Given the description of an element on the screen output the (x, y) to click on. 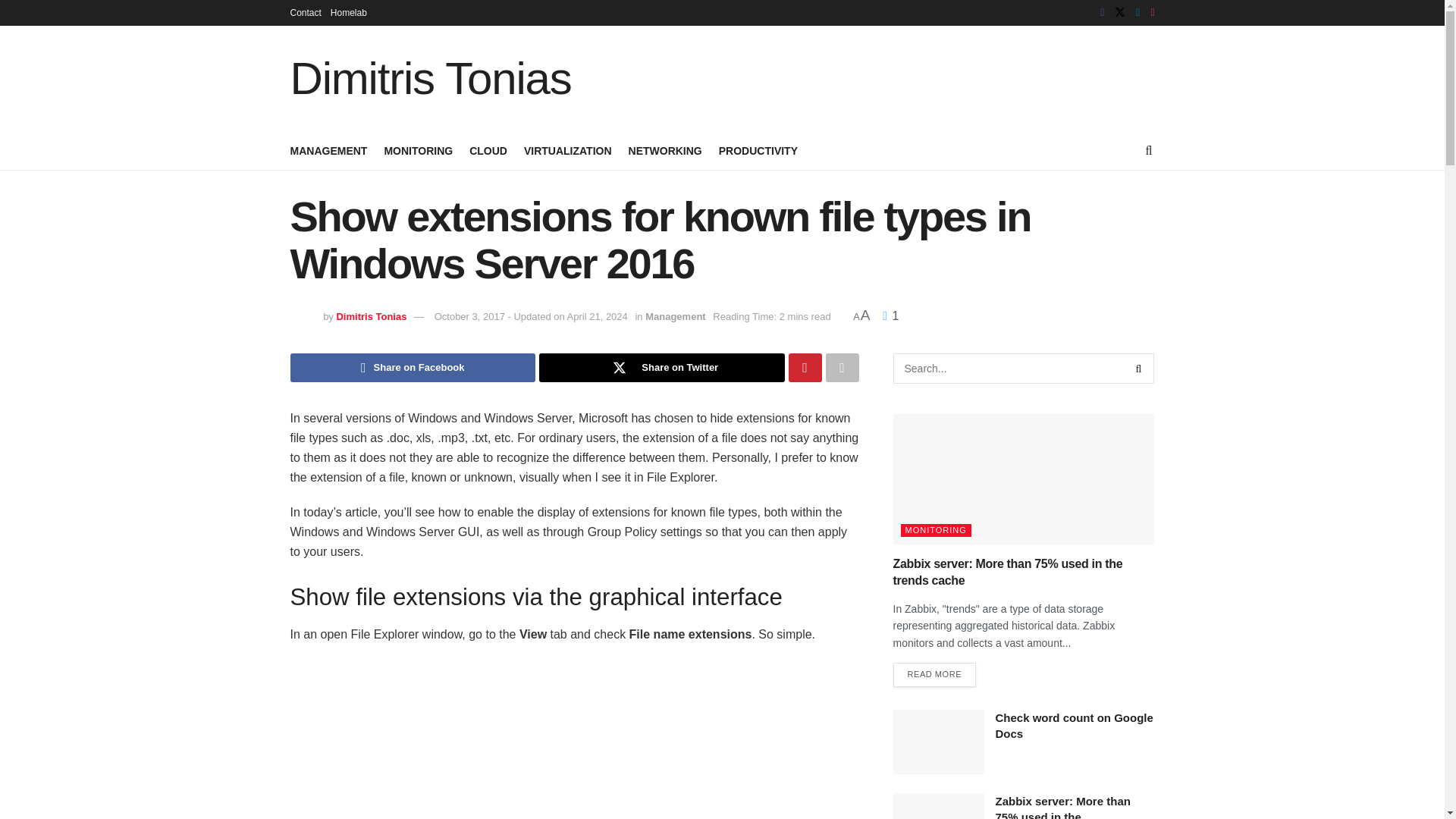
CLOUD (487, 150)
Dimitris Tonias (429, 78)
MANAGEMENT (327, 150)
VIRTUALIZATION (567, 150)
NETWORKING (664, 150)
PRODUCTIVITY (758, 150)
Share on Facebook (412, 367)
October 3, 2017 - Updated on April 21, 2024 (530, 316)
Contact (304, 12)
Homelab (348, 12)
1 (890, 315)
Dimitris Tonias (371, 316)
Share on Twitter (661, 367)
MONITORING (418, 150)
Management (674, 316)
